Given the description of an element on the screen output the (x, y) to click on. 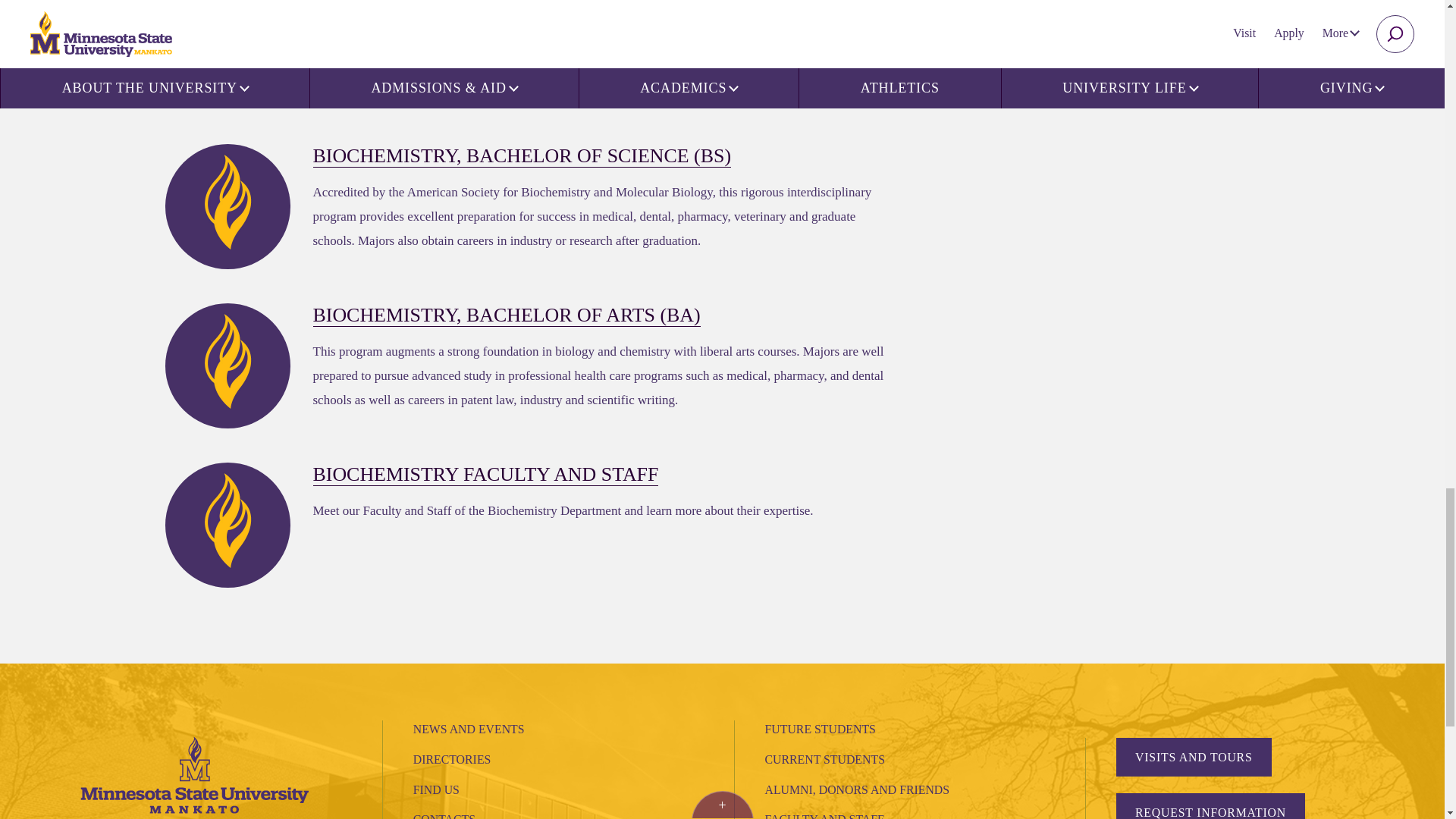
Request Information (1210, 806)
Minnesota State University, Mankato (194, 773)
Visit Campus (1193, 756)
